Given the description of an element on the screen output the (x, y) to click on. 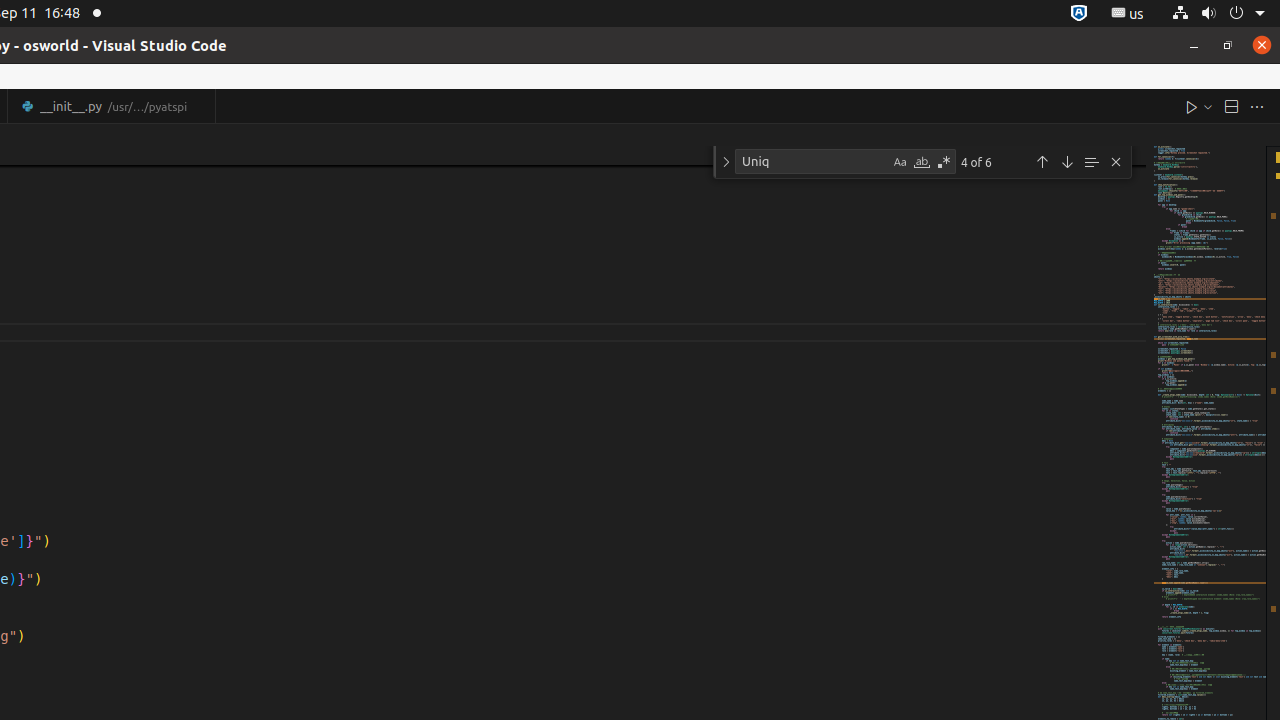
Split Editor Right (Ctrl+\) [Alt] Split Editor Down Element type: push-button (1231, 106)
Use Regular Expression (Alt+R) Element type: check-box (944, 162)
Close (Ctrl+W) Element type: push-button (201, 106)
More Actions... Element type: push-button (1257, 106)
